Given the description of an element on the screen output the (x, y) to click on. 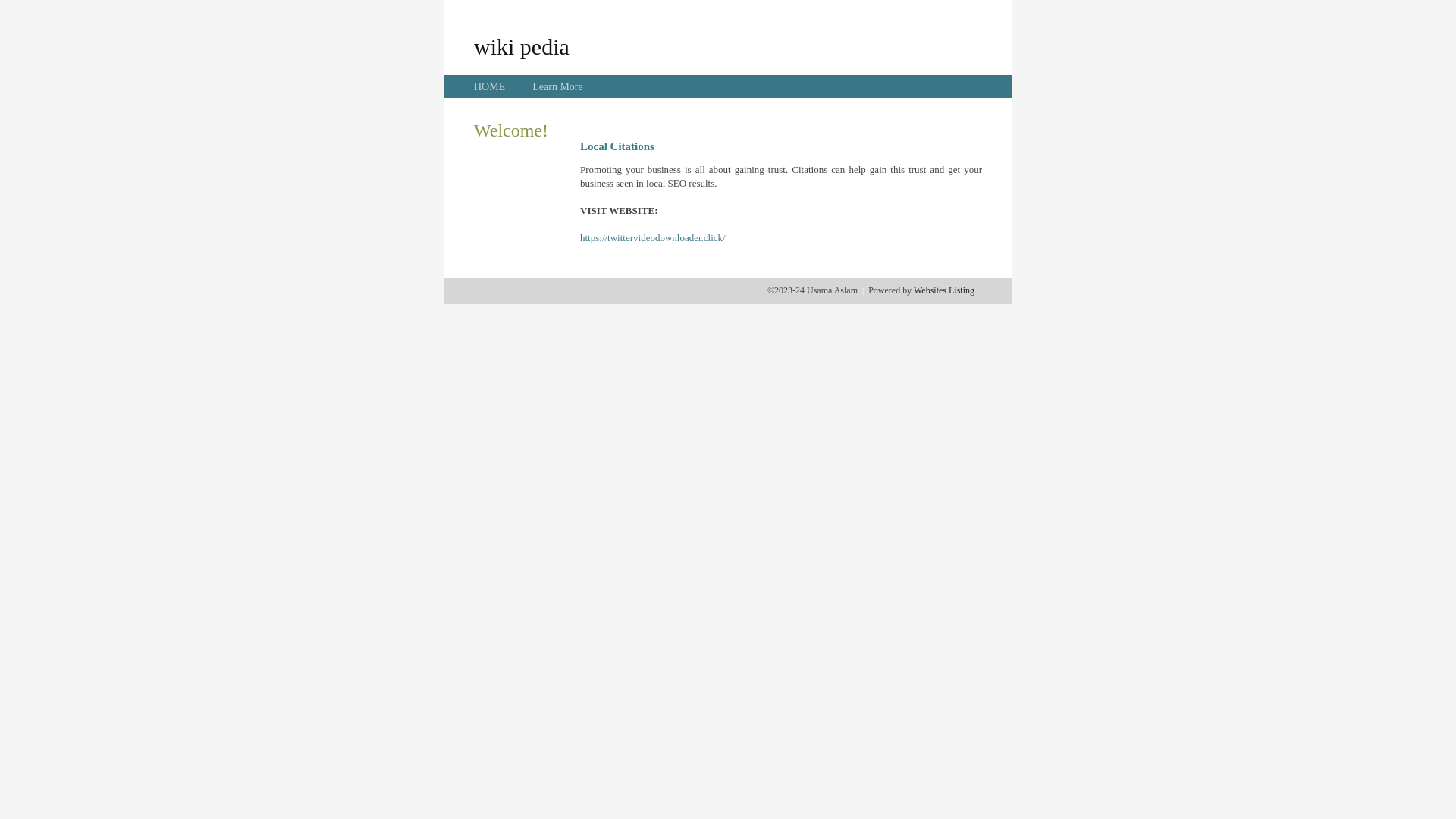
Learn More Element type: text (557, 86)
HOME Element type: text (489, 86)
Websites Listing Element type: text (943, 290)
wiki pedia Element type: text (521, 46)
https://twittervideodownloader.click/ Element type: text (652, 237)
